Given the description of an element on the screen output the (x, y) to click on. 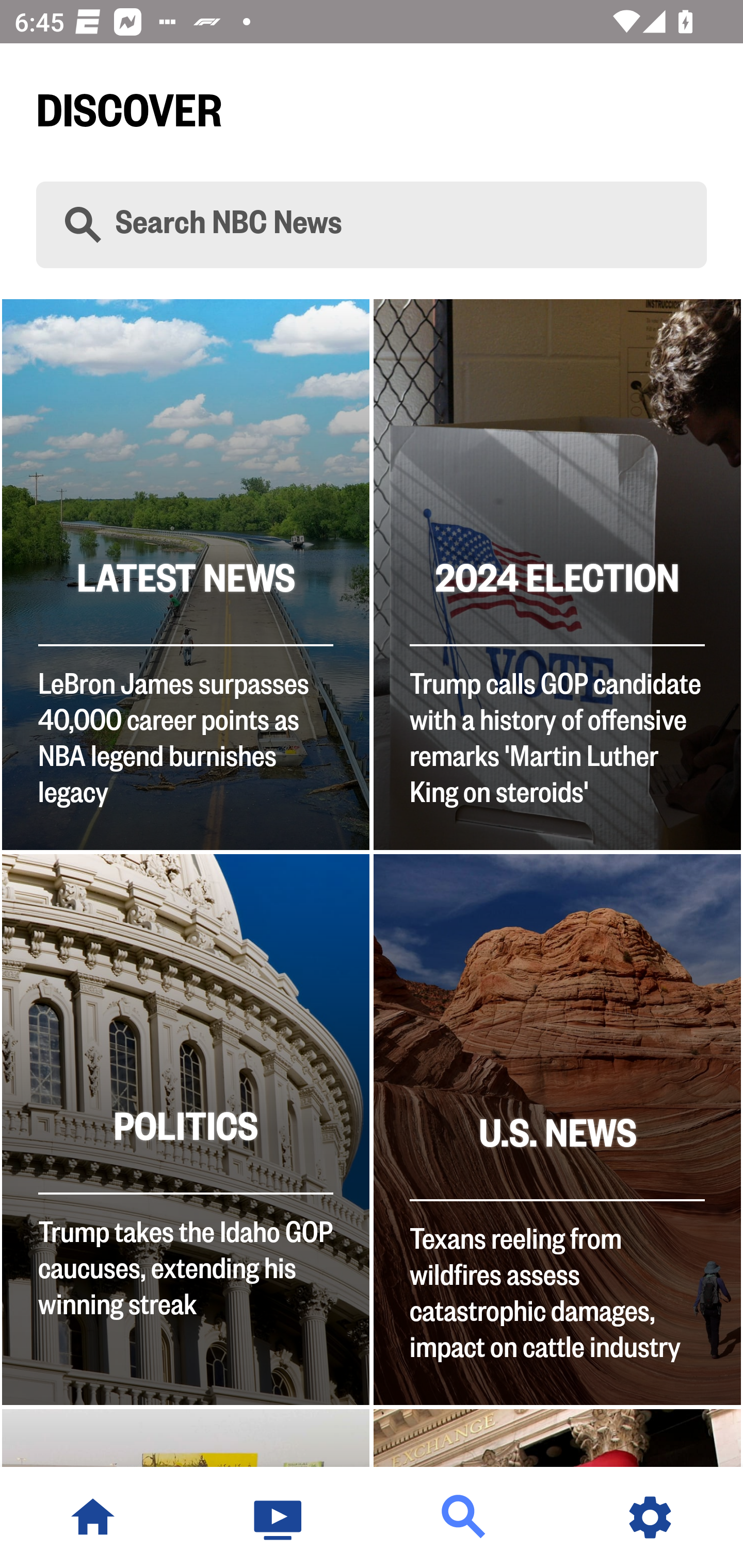
NBC News Home (92, 1517)
Watch (278, 1517)
Settings (650, 1517)
